Given the description of an element on the screen output the (x, y) to click on. 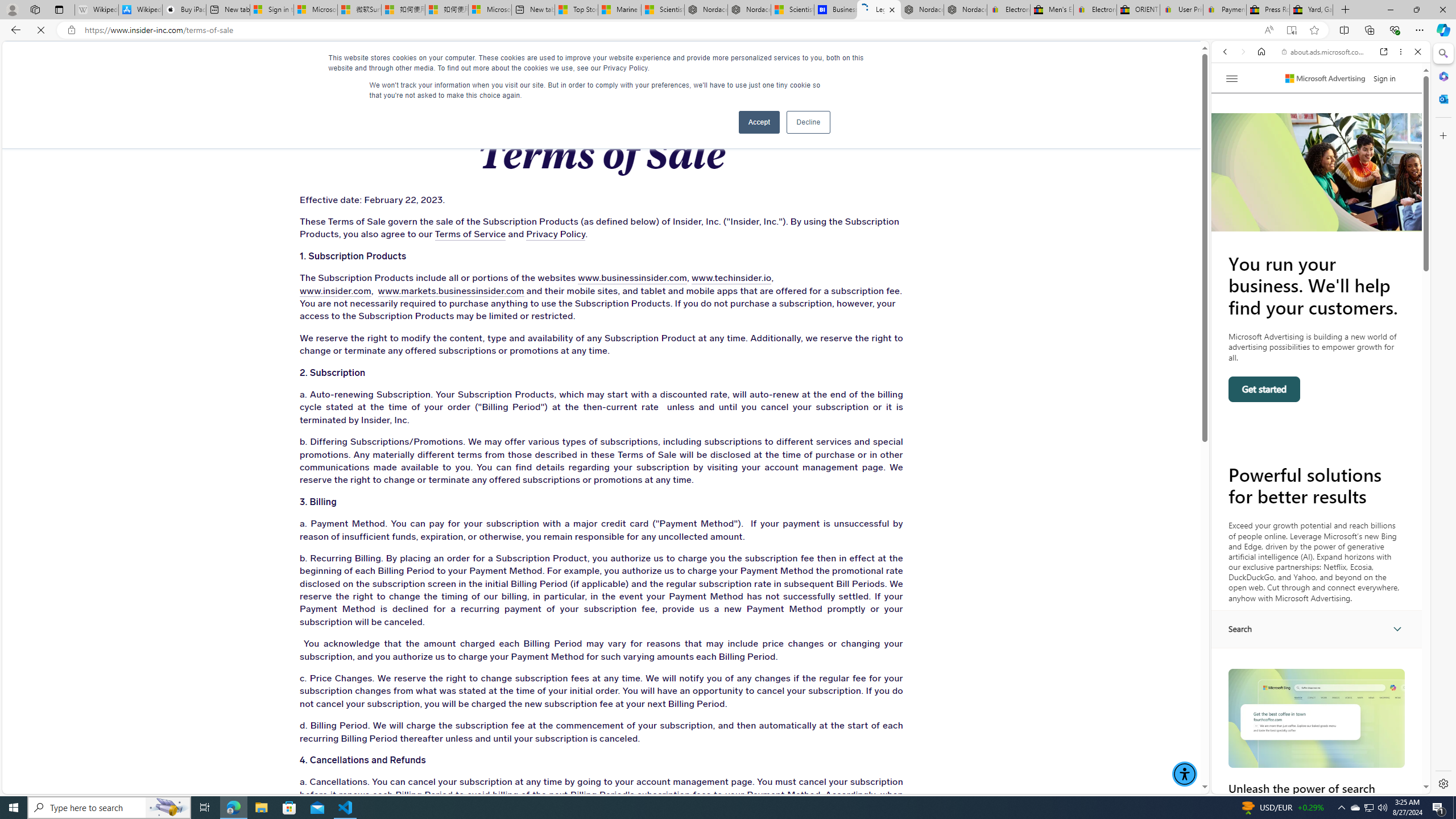
NEWS (730, 62)
